Given the description of an element on the screen output the (x, y) to click on. 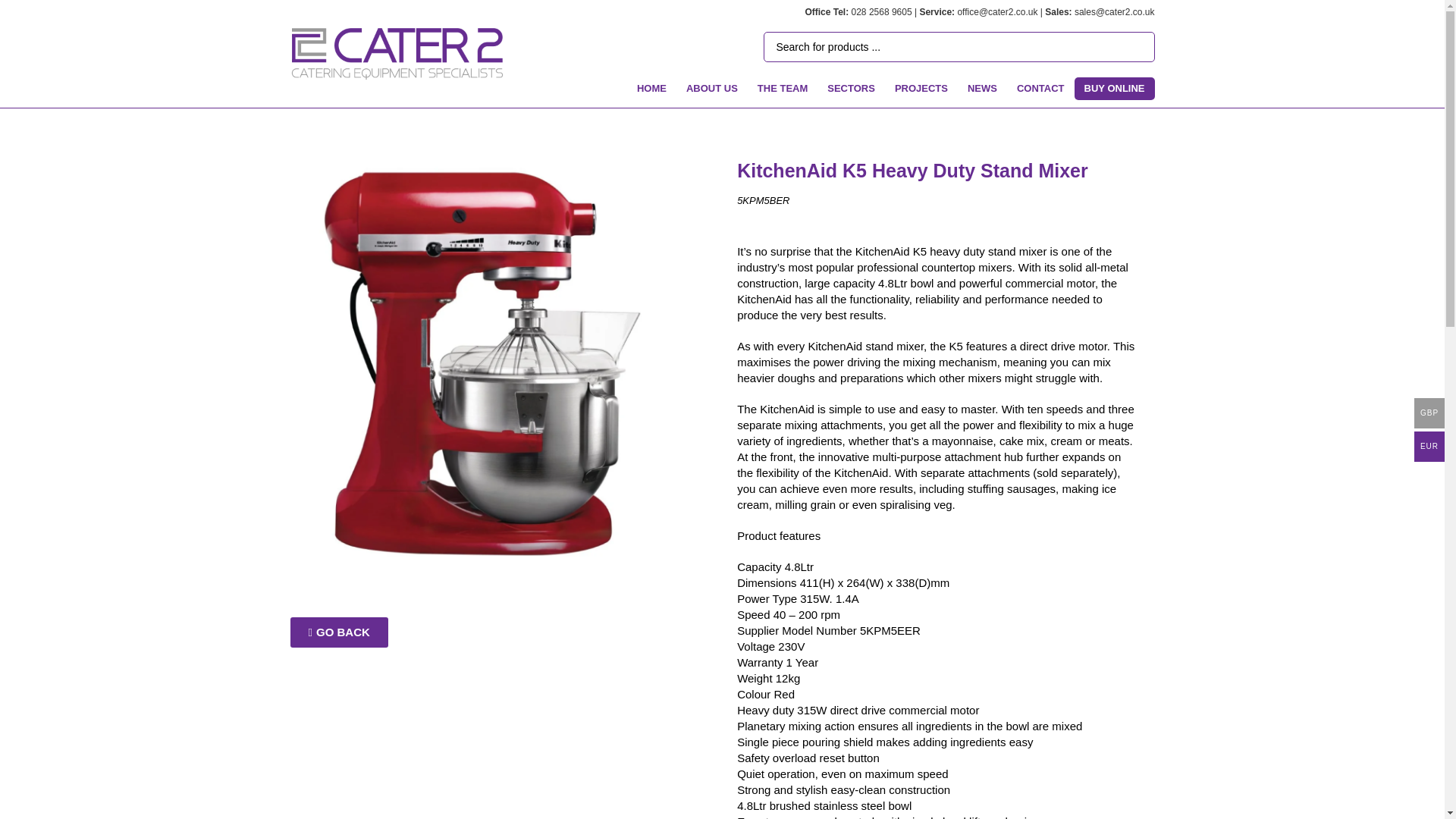
HOME (652, 87)
NEWS (982, 87)
ABOUT US (712, 87)
PROJECTS (921, 87)
THE TEAM (782, 87)
CONTACT (1040, 87)
SECTORS (850, 87)
BUY ONLINE (1114, 87)
